Given the description of an element on the screen output the (x, y) to click on. 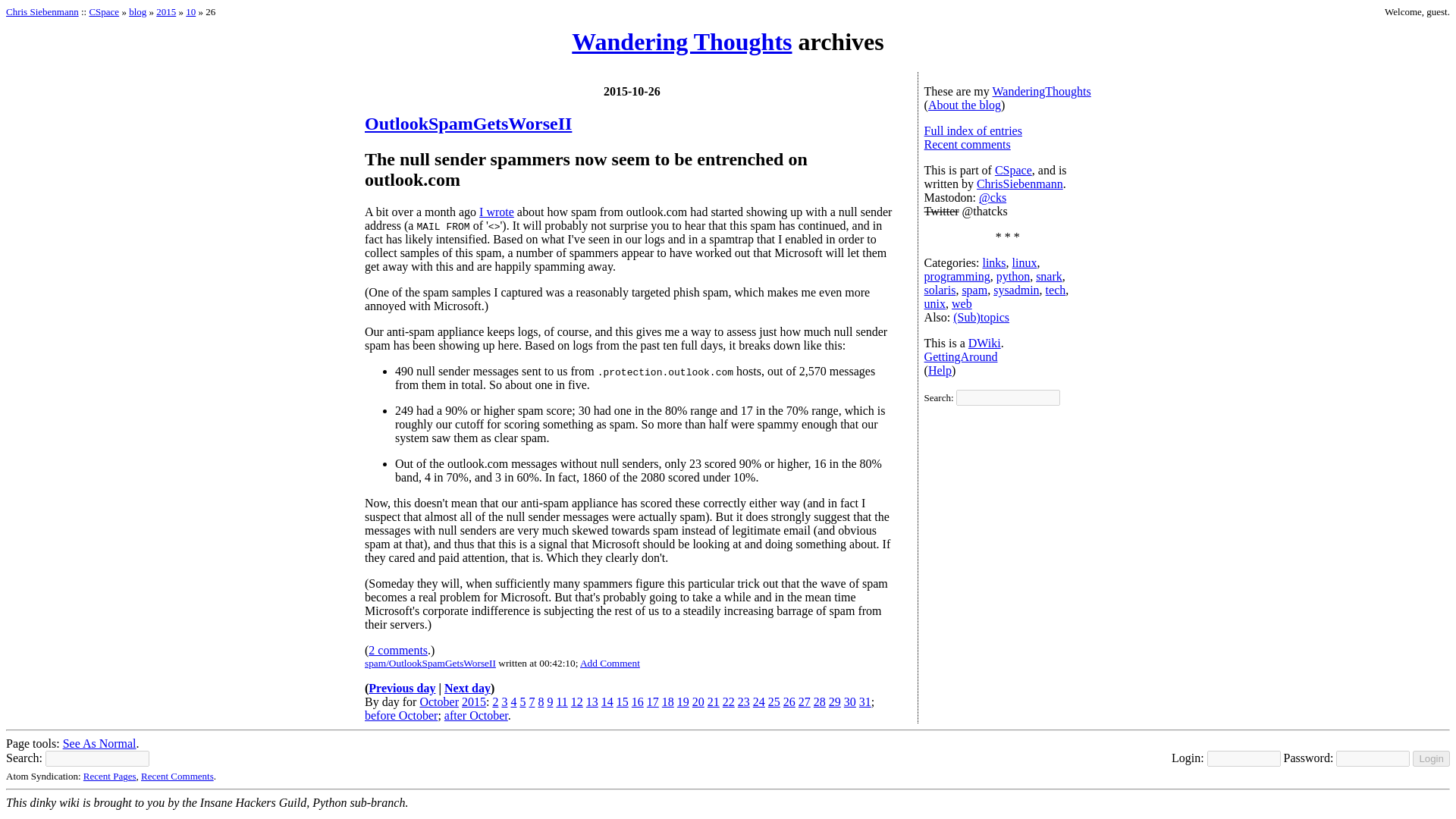
Next day (467, 687)
15 (621, 701)
October (438, 701)
CSpace (103, 11)
I wrote (496, 211)
blog (138, 11)
Previous day (401, 687)
2 comments (398, 649)
23 (743, 701)
24 (758, 701)
